Given the description of an element on the screen output the (x, y) to click on. 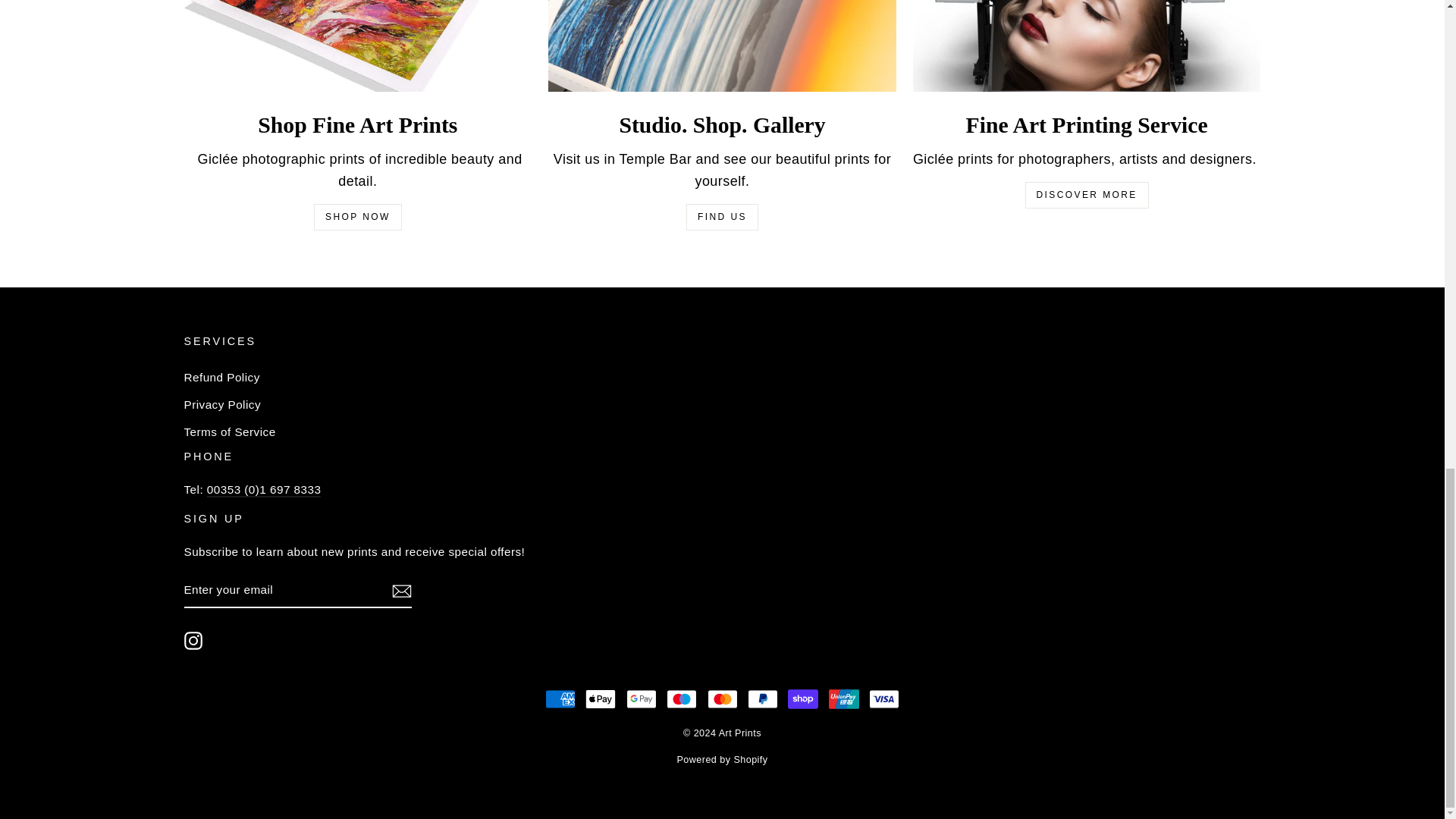
Shop Pay (802, 698)
PayPal (762, 698)
Google Pay (641, 698)
American Express (559, 698)
Maestro (681, 698)
Apple Pay (600, 698)
Art Prints on Instagram (192, 640)
Visa (884, 698)
Union Pay (843, 698)
tel:00353862267736 (263, 490)
